Given the description of an element on the screen output the (x, y) to click on. 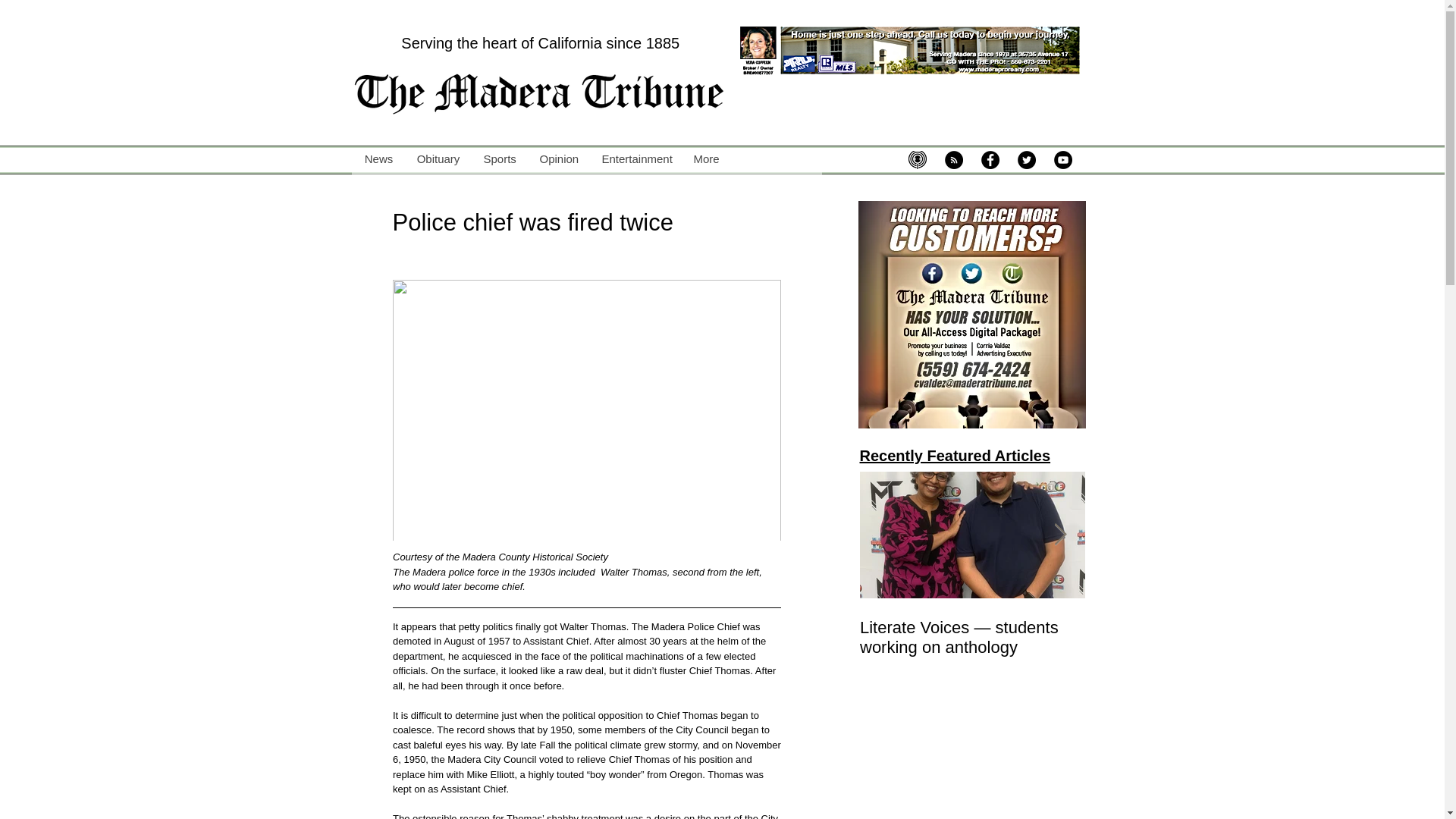
Entertainment (635, 159)
News (378, 159)
Sports (499, 159)
MUSD FFA teacher wins award (1196, 637)
Obituary (437, 159)
Facebook Like (755, 191)
Opinion (558, 159)
